Given the description of an element on the screen output the (x, y) to click on. 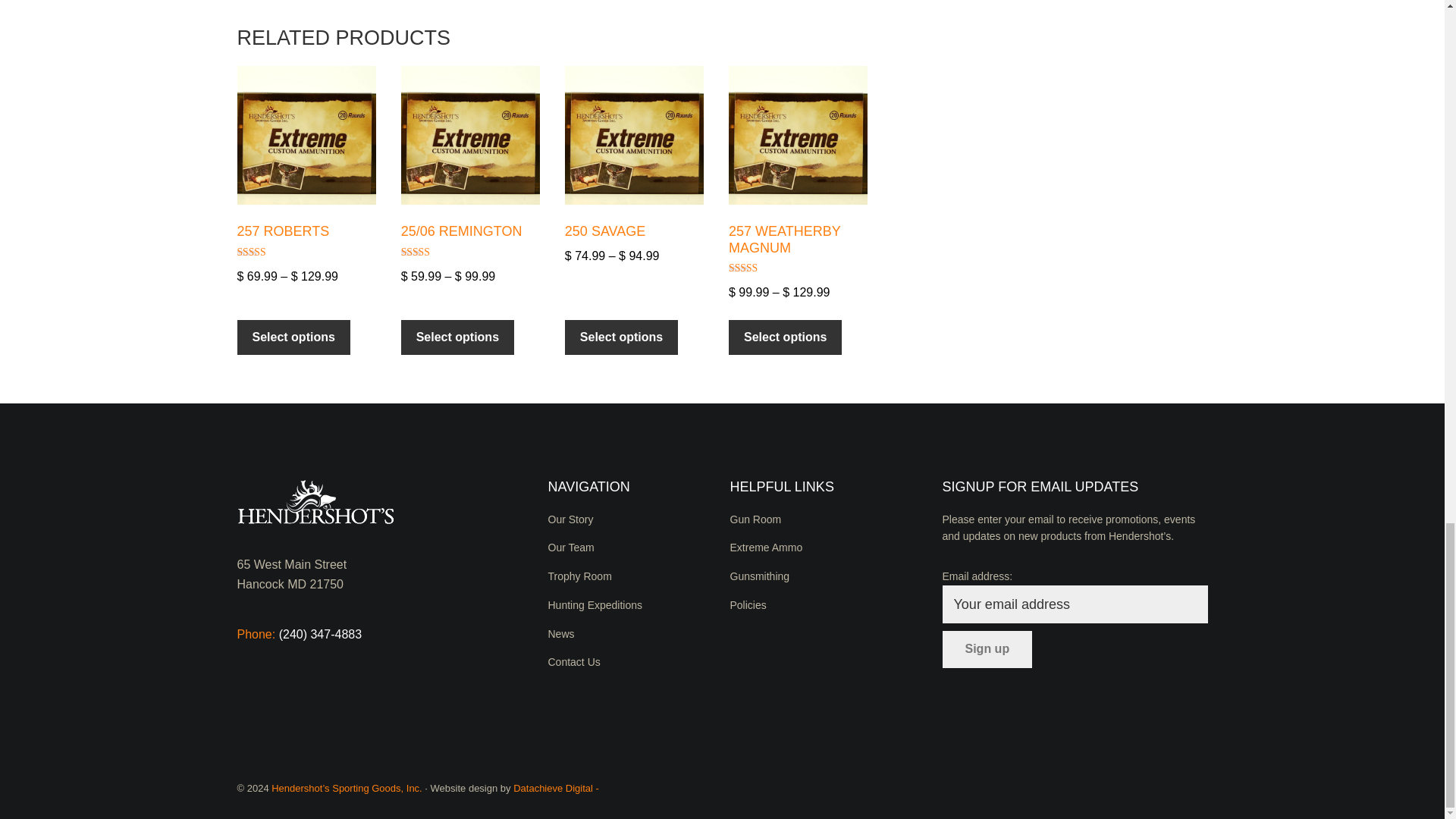
Sign up (987, 648)
